Given the description of an element on the screen output the (x, y) to click on. 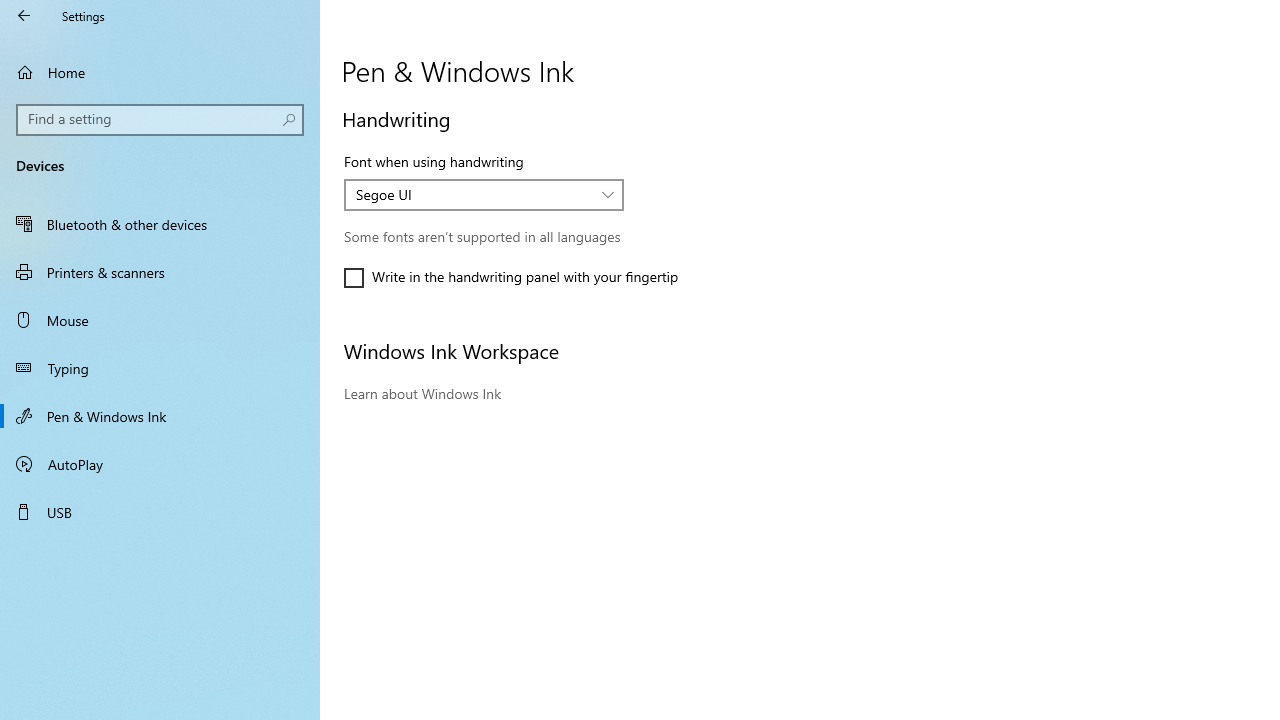
Mouse (160, 319)
AutoPlay (160, 463)
Printers & scanners (160, 271)
Learn about Windows Ink (422, 393)
Segoe UI (473, 194)
Font when using handwriting (484, 194)
Pen & Windows Ink (160, 415)
Bluetooth & other devices (160, 223)
USB (160, 511)
Typing (160, 367)
Write in the handwriting panel with your fingertip (511, 277)
